Given the description of an element on the screen output the (x, y) to click on. 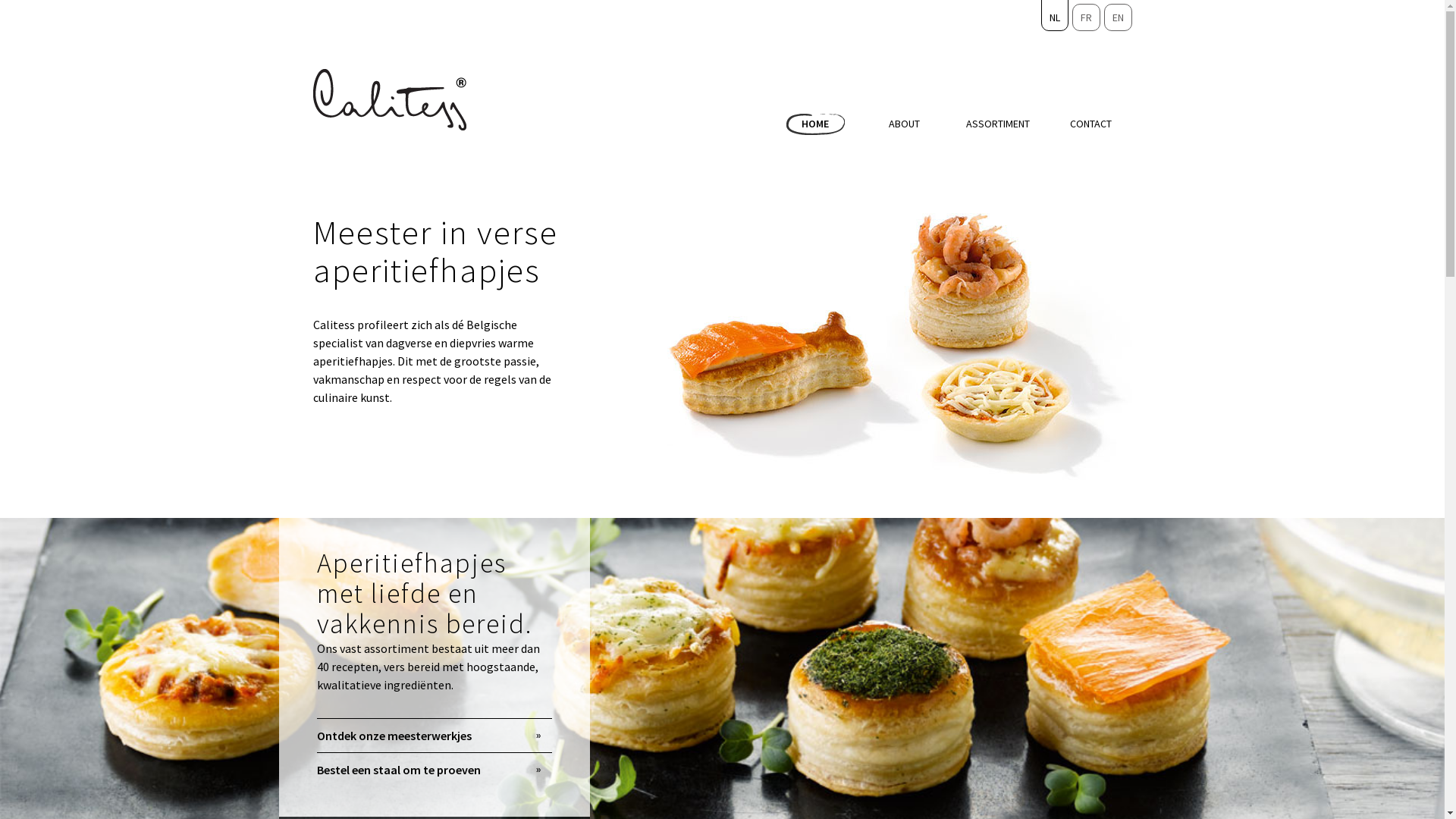
ABOUT Element type: text (903, 123)
EN Element type: text (1118, 17)
Calitess | Meester in verse aperitiefhapjes Element type: hover (388, 99)
ASSORTIMENT Element type: text (997, 123)
HOME Element type: text (814, 123)
FR Element type: text (1086, 17)
Ontdek onze meesterwerkjes Element type: text (434, 735)
Bestel een staal om te proeven Element type: text (434, 769)
CONTACT Element type: text (1090, 123)
